Given the description of an element on the screen output the (x, y) to click on. 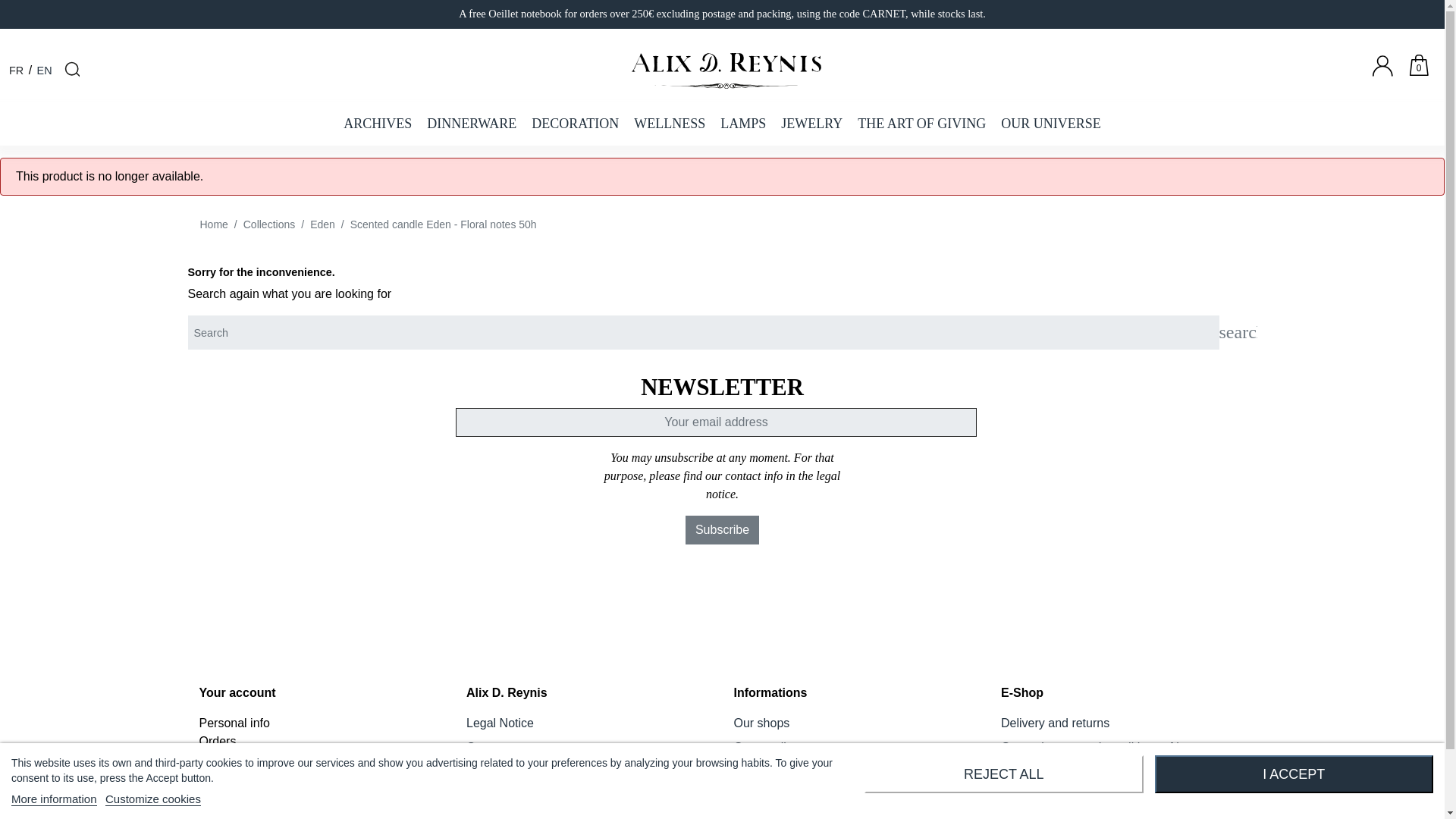
Log in to your customer account (1389, 78)
ARCHIVES (377, 123)
EN (44, 71)
DECORATION (575, 123)
ARCHIVES (377, 123)
Dinnerware (471, 123)
DINNERWARE (471, 123)
